Given the description of an element on the screen output the (x, y) to click on. 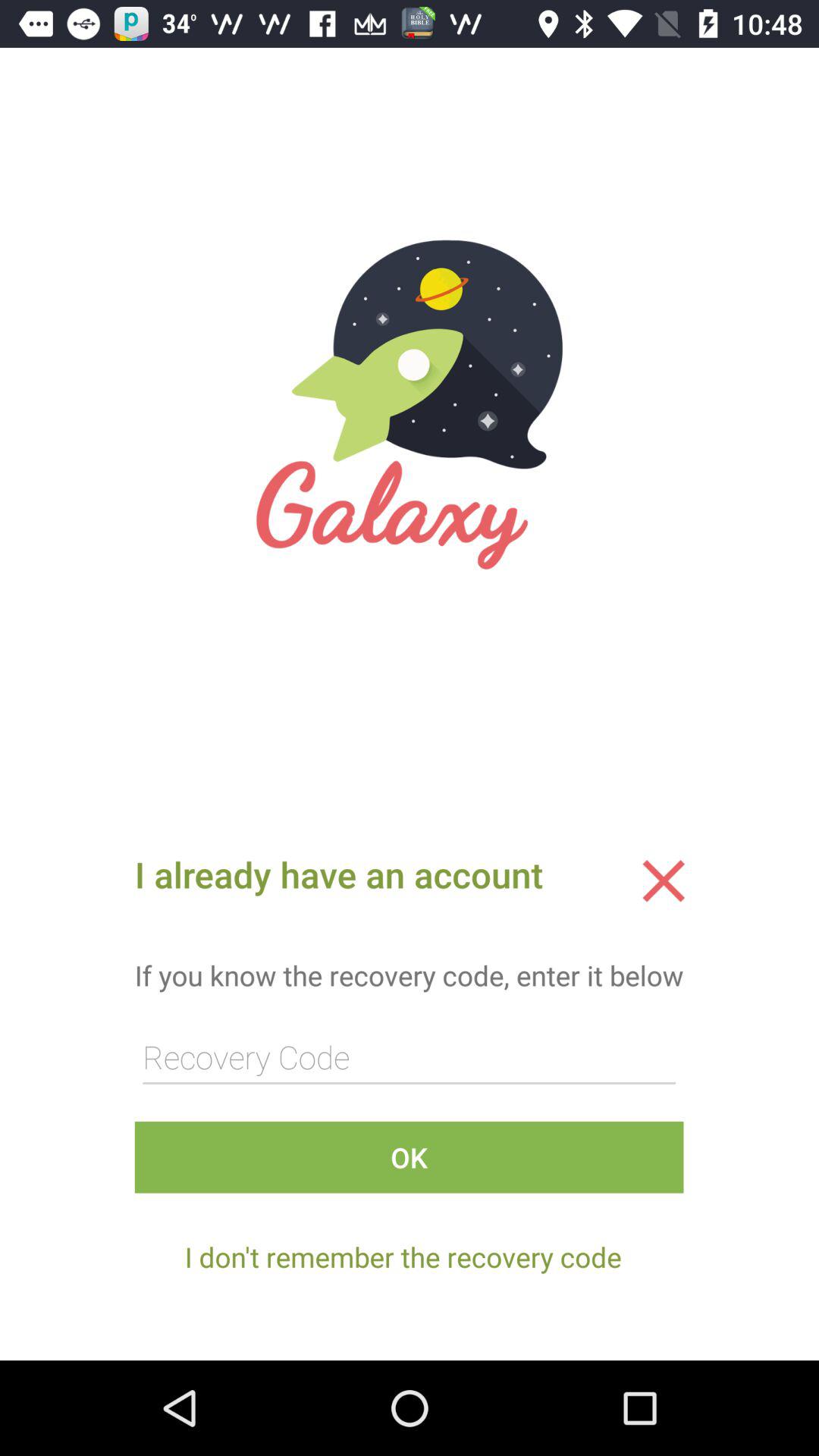
type recovery code (408, 1057)
